Given the description of an element on the screen output the (x, y) to click on. 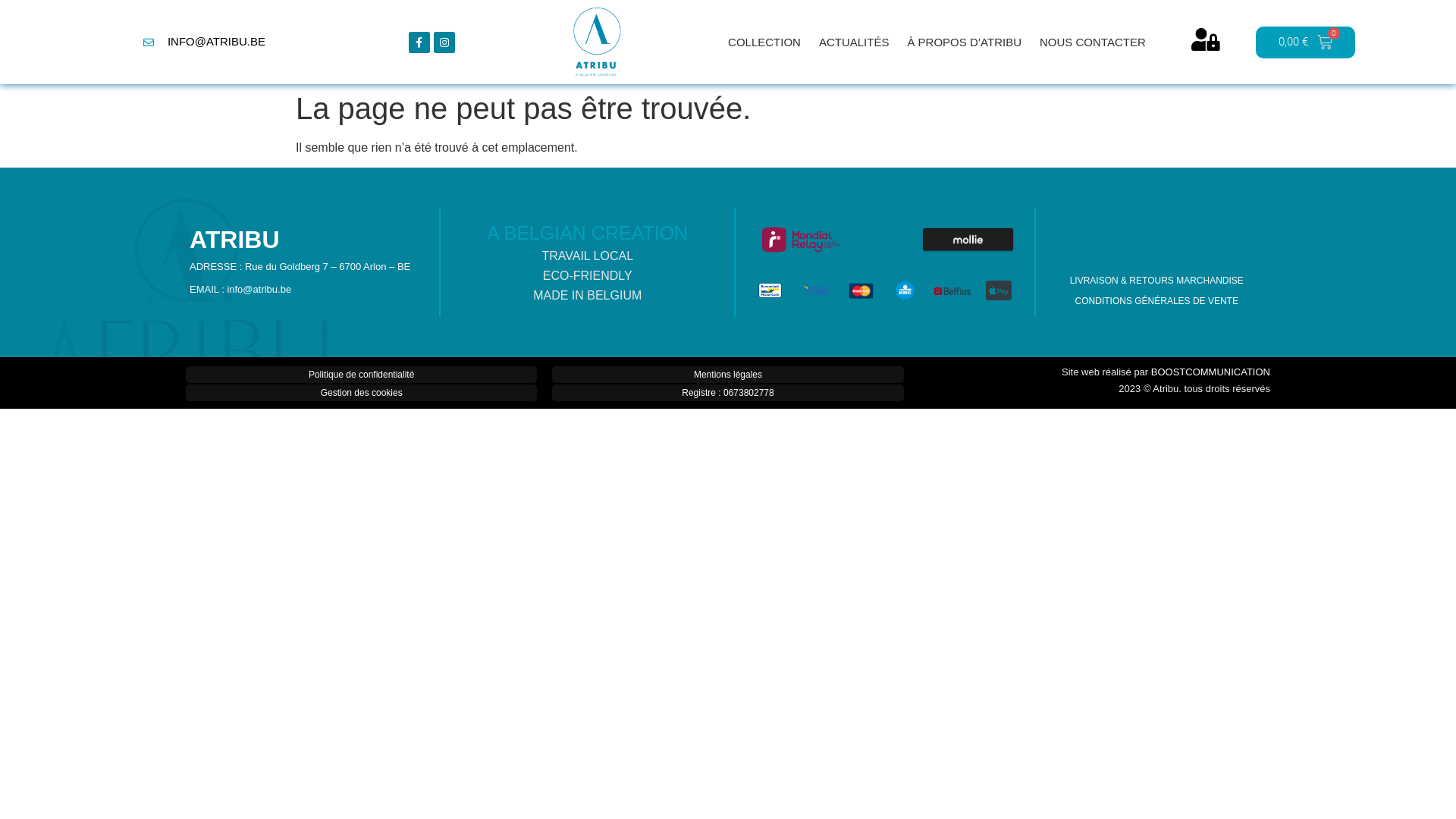
NOUS CONTACTER Element type: text (1092, 42)
Gestion des cookies Element type: text (360, 392)
INFO@ATRIBU.BE Element type: text (203, 41)
COLLECTION Element type: text (763, 42)
Registre : 0673802778 Element type: text (727, 392)
LIVRAISON & RETOURS MARCHANDISE Element type: text (1156, 280)
BOOSTCOMMUNICATION Element type: text (1210, 371)
